Given the description of an element on the screen output the (x, y) to click on. 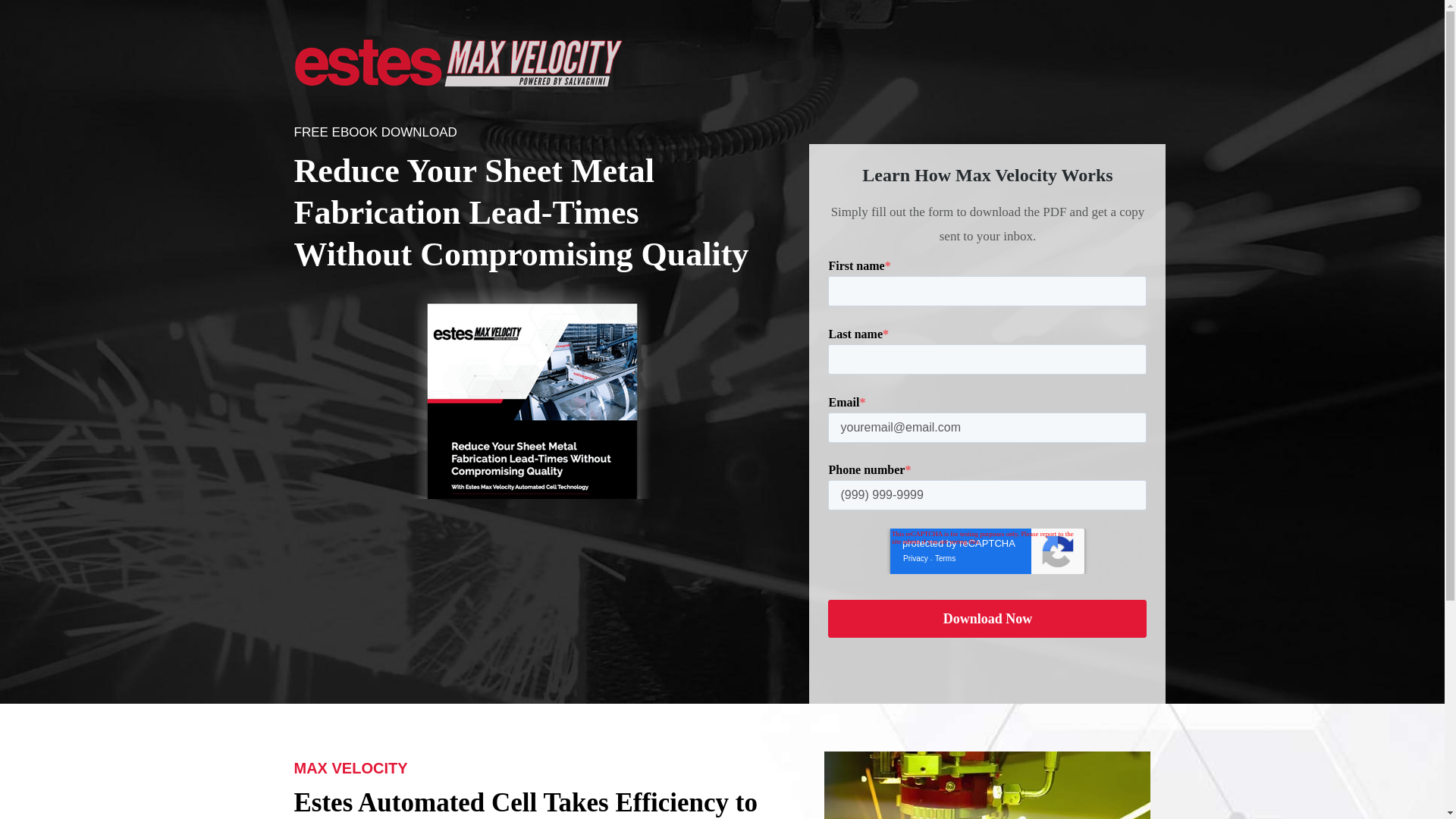
Download Now (987, 618)
reCAPTCHA (986, 551)
